Given the description of an element on the screen output the (x, y) to click on. 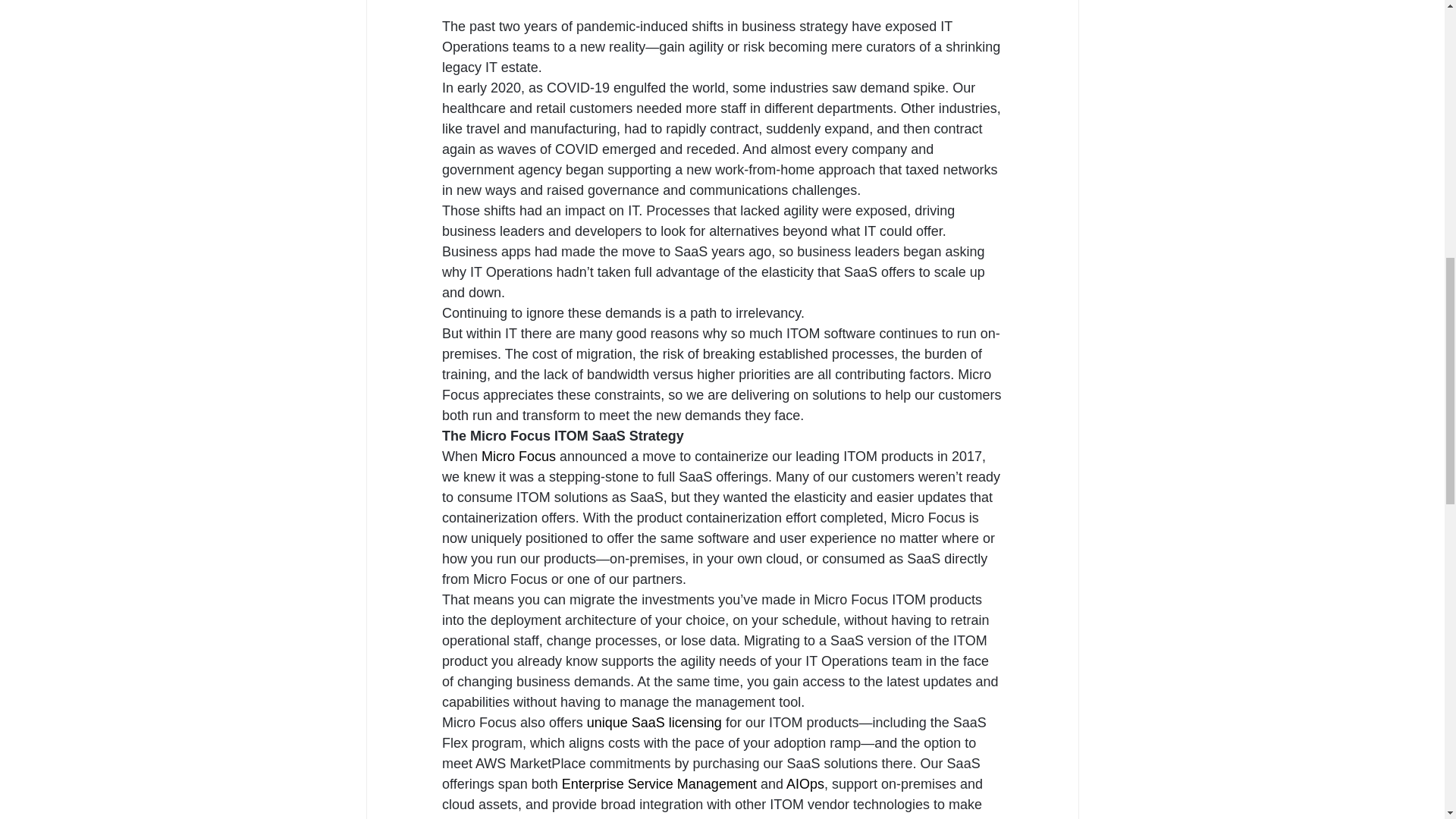
AIOps (805, 783)
Micro Focus (518, 456)
Enterprise Service Management (657, 783)
unique SaaS licensing (653, 722)
